Given the description of an element on the screen output the (x, y) to click on. 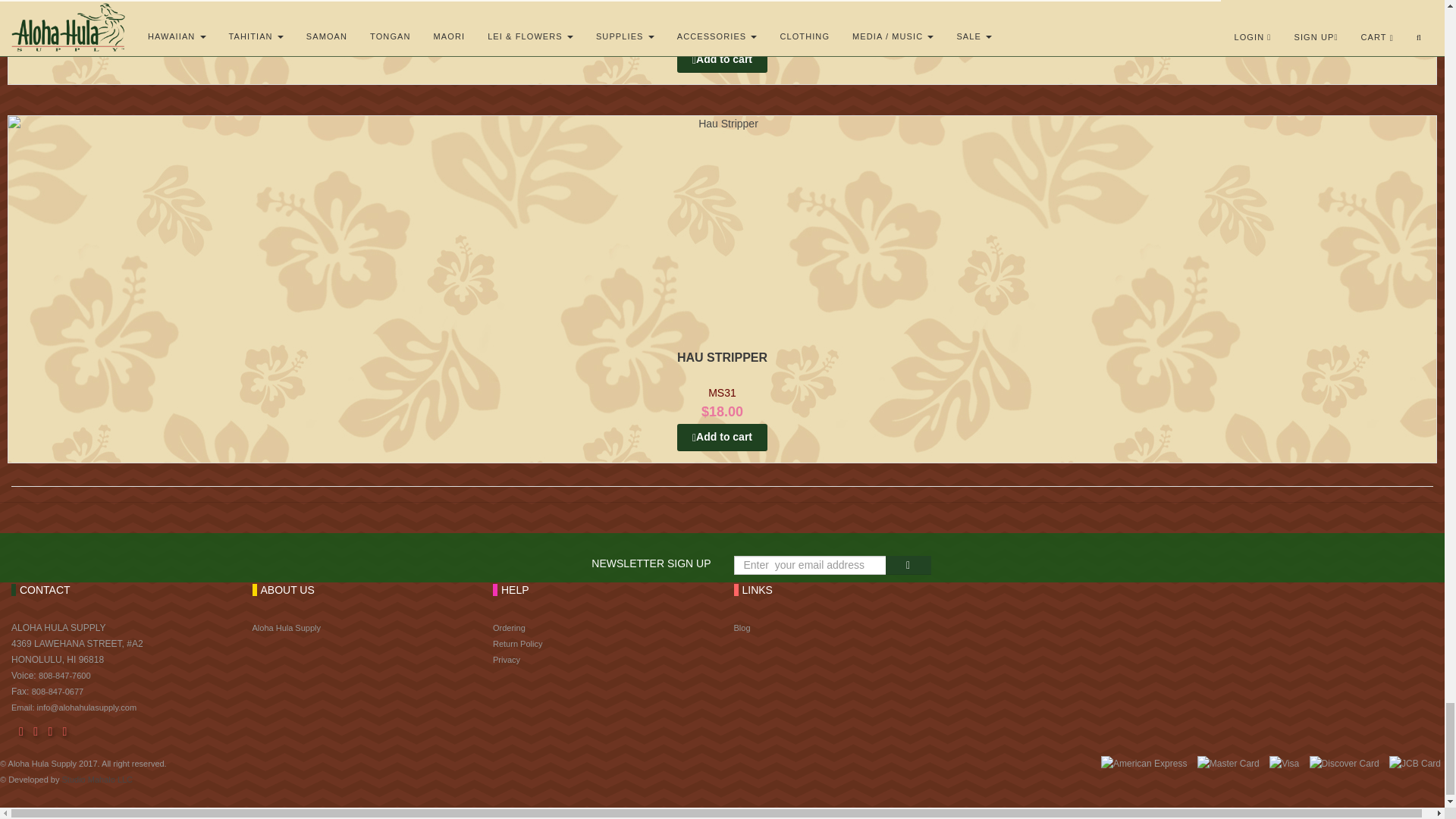
American Express (1143, 763)
Visa (1283, 763)
Discover Card (1343, 763)
Master Card (1227, 763)
